Given the description of an element on the screen output the (x, y) to click on. 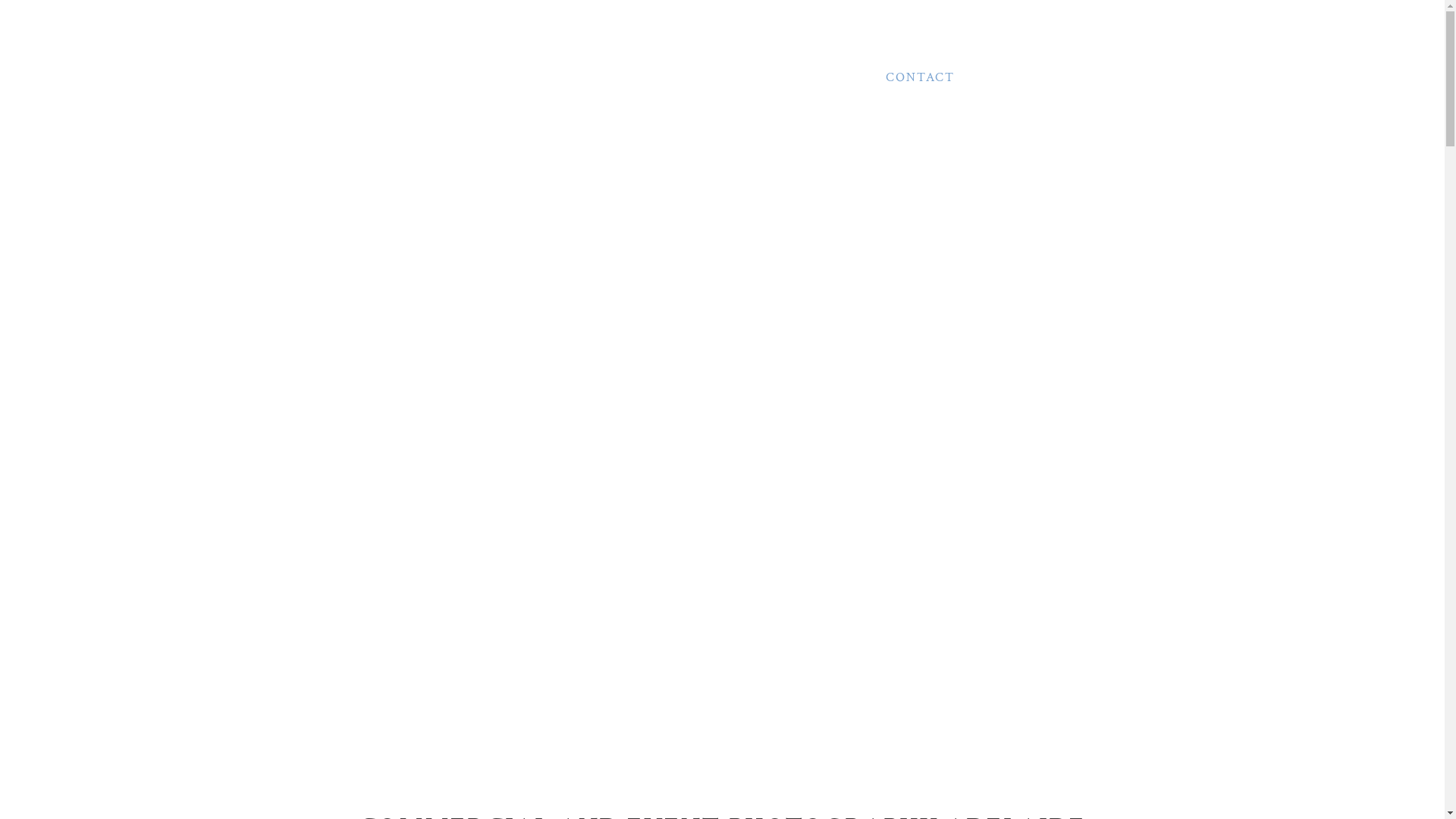
OUR PACKAGES Element type: text (788, 76)
OUR SERVICES Element type: text (540, 76)
PORTFOLIO Element type: text (651, 76)
CONTACT Element type: text (919, 76)
